Given the description of an element on the screen output the (x, y) to click on. 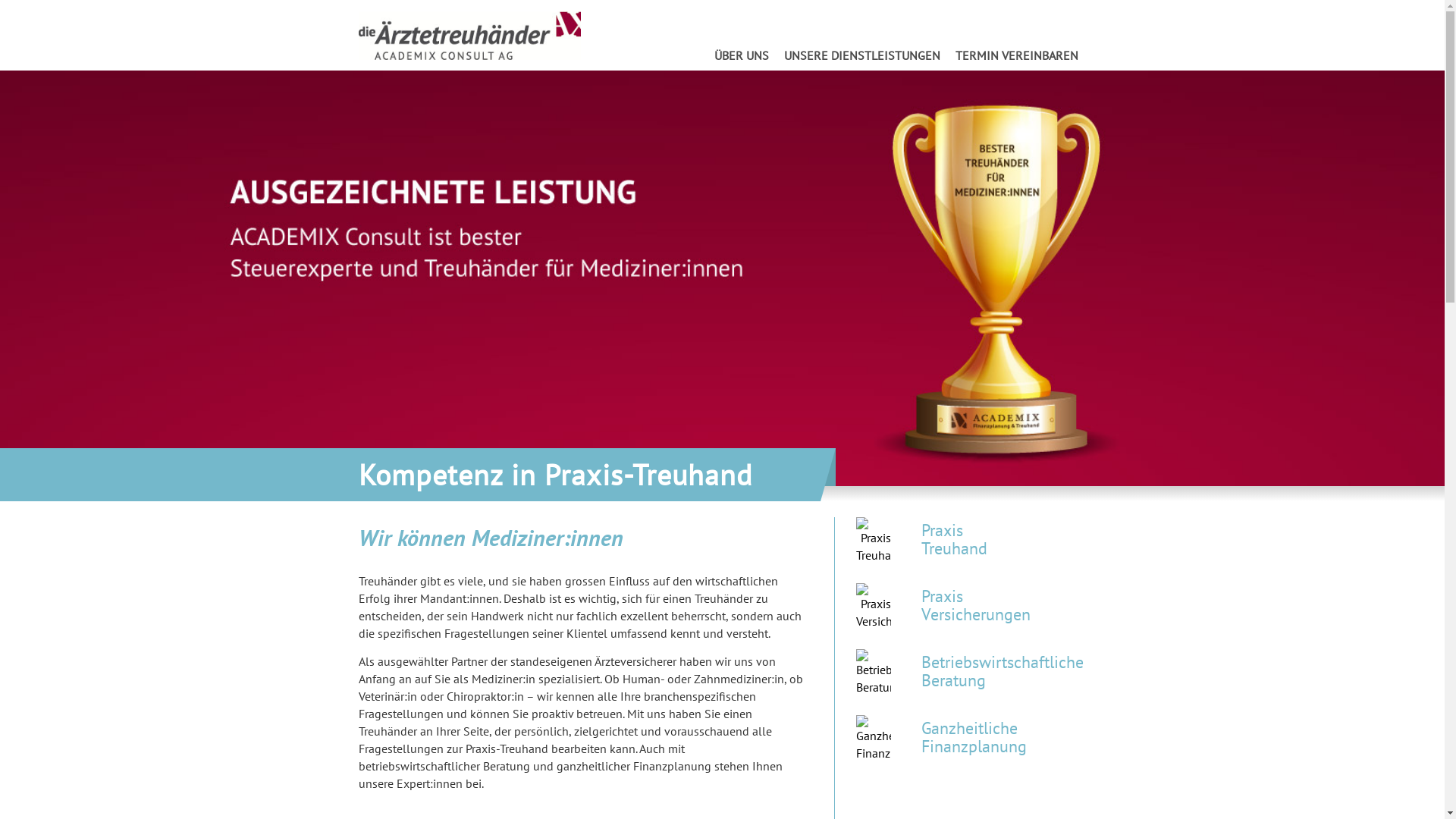
TERMIN VEREINBAREN Element type: text (1016, 55)
UNSERE DIENSTLEISTUNGEN Element type: text (861, 55)
